Given the description of an element on the screen output the (x, y) to click on. 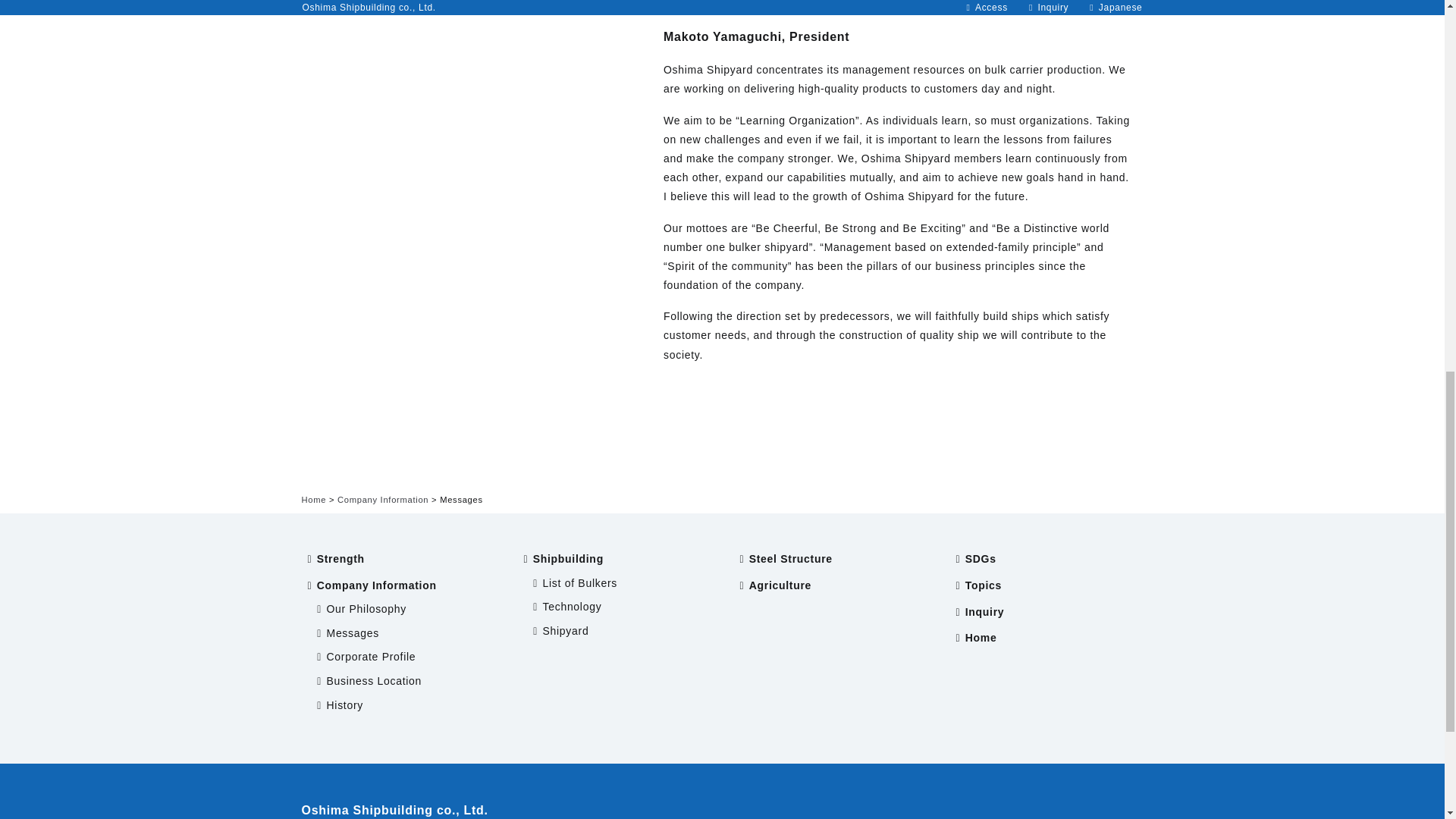
Our Philosophy (366, 608)
Company Information (376, 585)
History (344, 705)
Business Location (374, 680)
Home (313, 499)
Go to Company Information. (382, 499)
Messages (352, 633)
Strength (341, 558)
Corporate Profile (371, 656)
Company Information (382, 499)
